Given the description of an element on the screen output the (x, y) to click on. 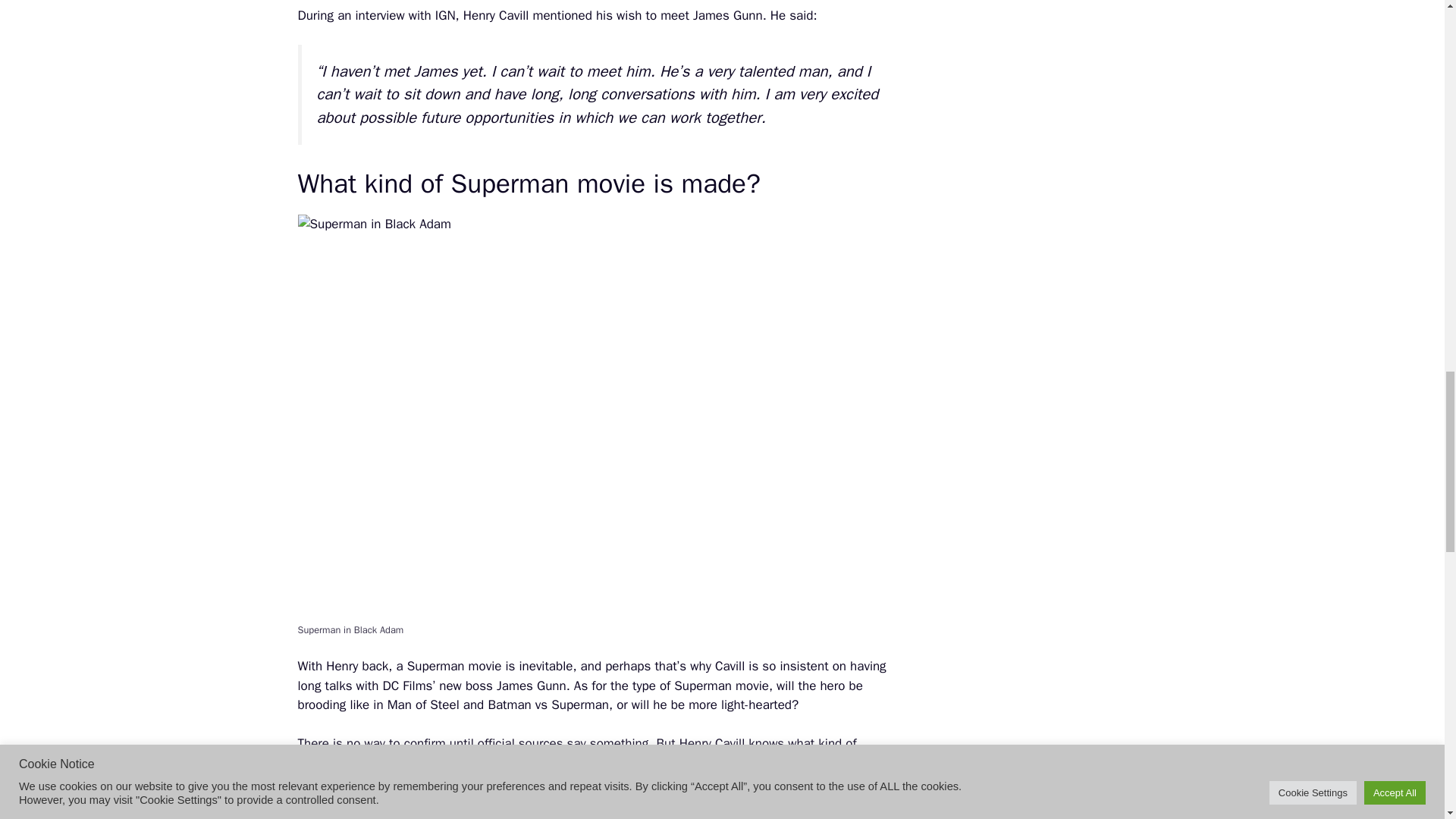
Superman he wants to play (373, 763)
